Given the description of an element on the screen output the (x, y) to click on. 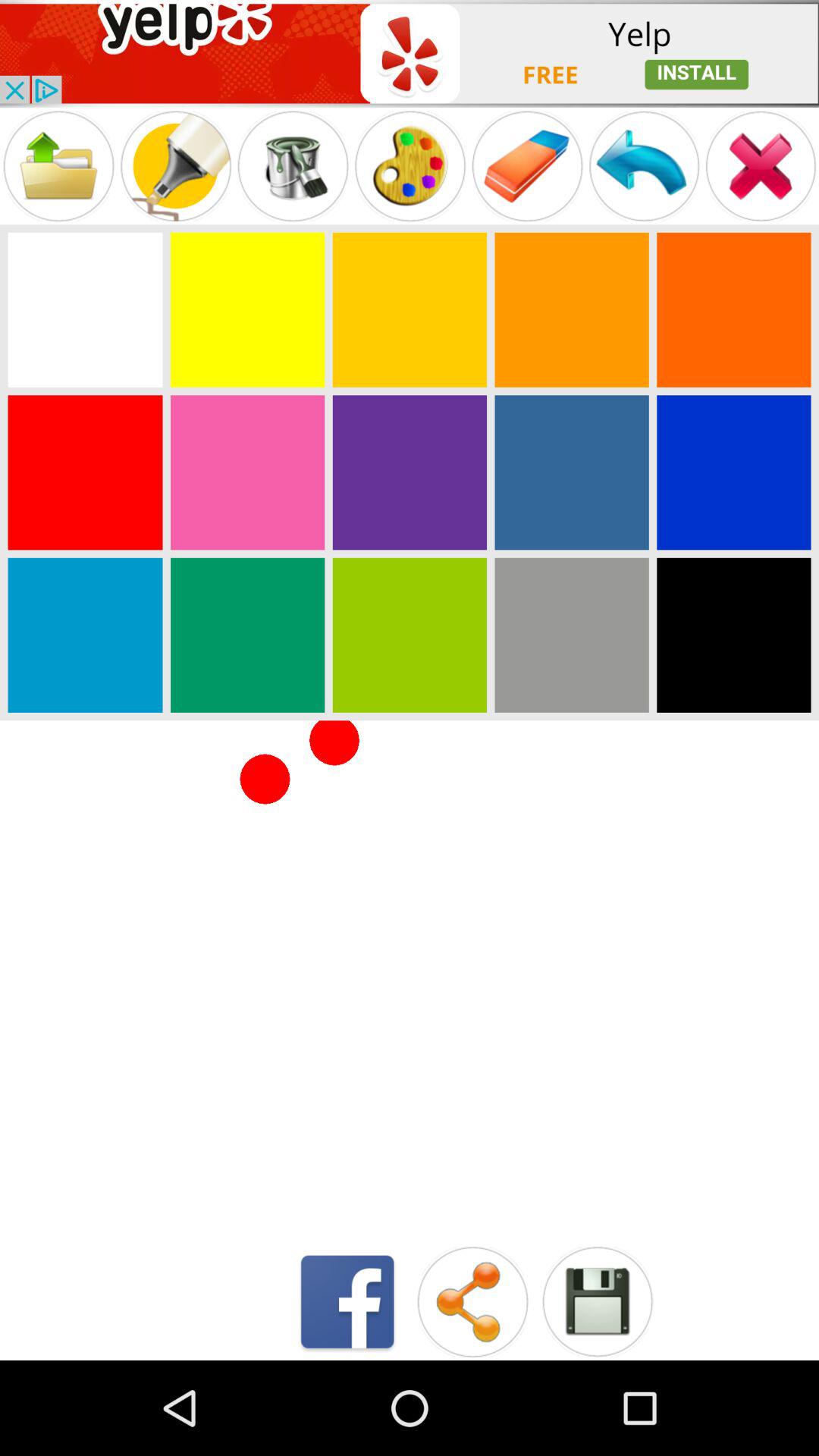
picks color (571, 634)
